Given the description of an element on the screen output the (x, y) to click on. 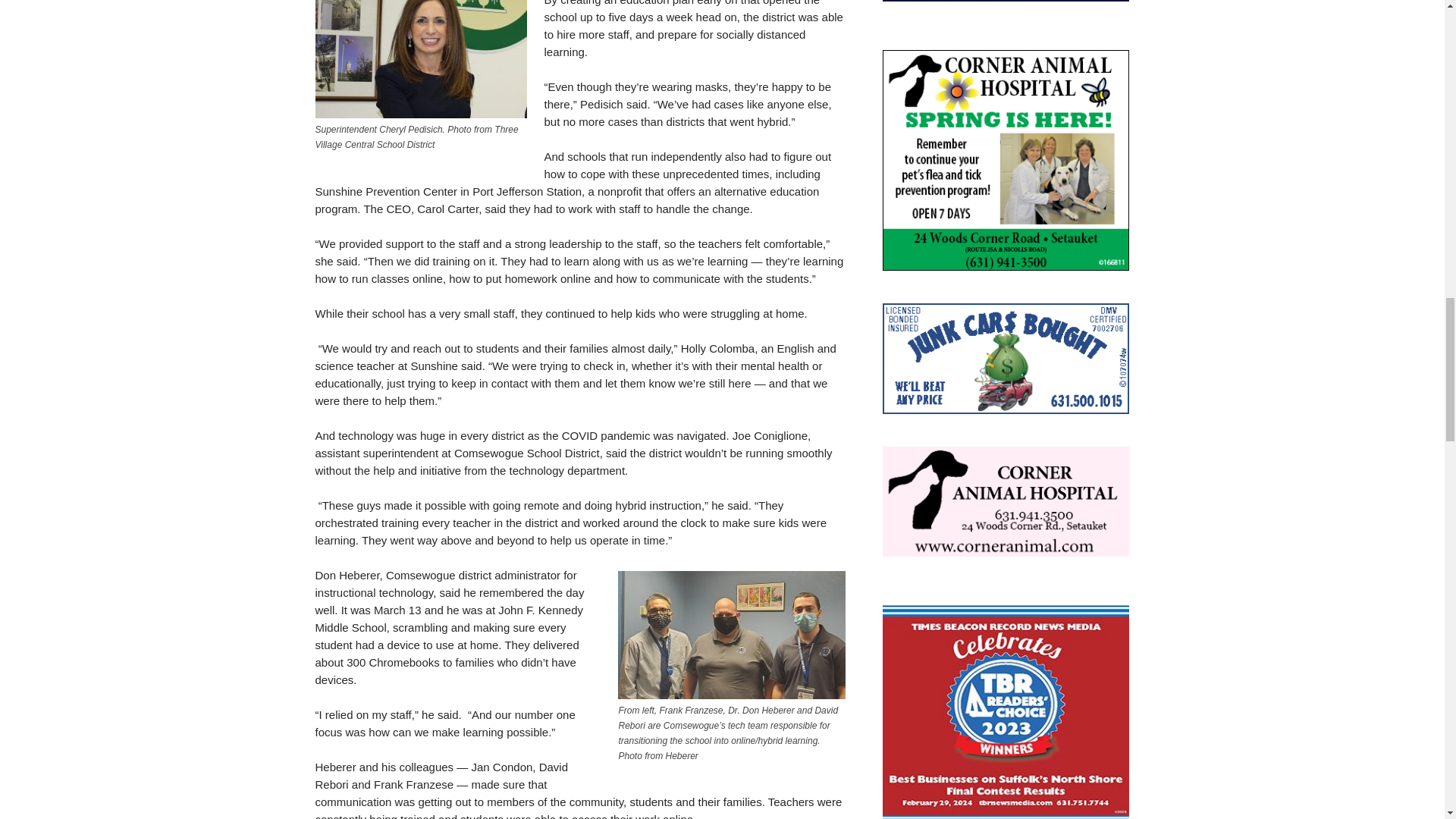
Corner Animal Hospital (1005, 160)
Corner Animal Hospital (1005, 501)
Junk Cars (1005, 358)
